Given the description of an element on the screen output the (x, y) to click on. 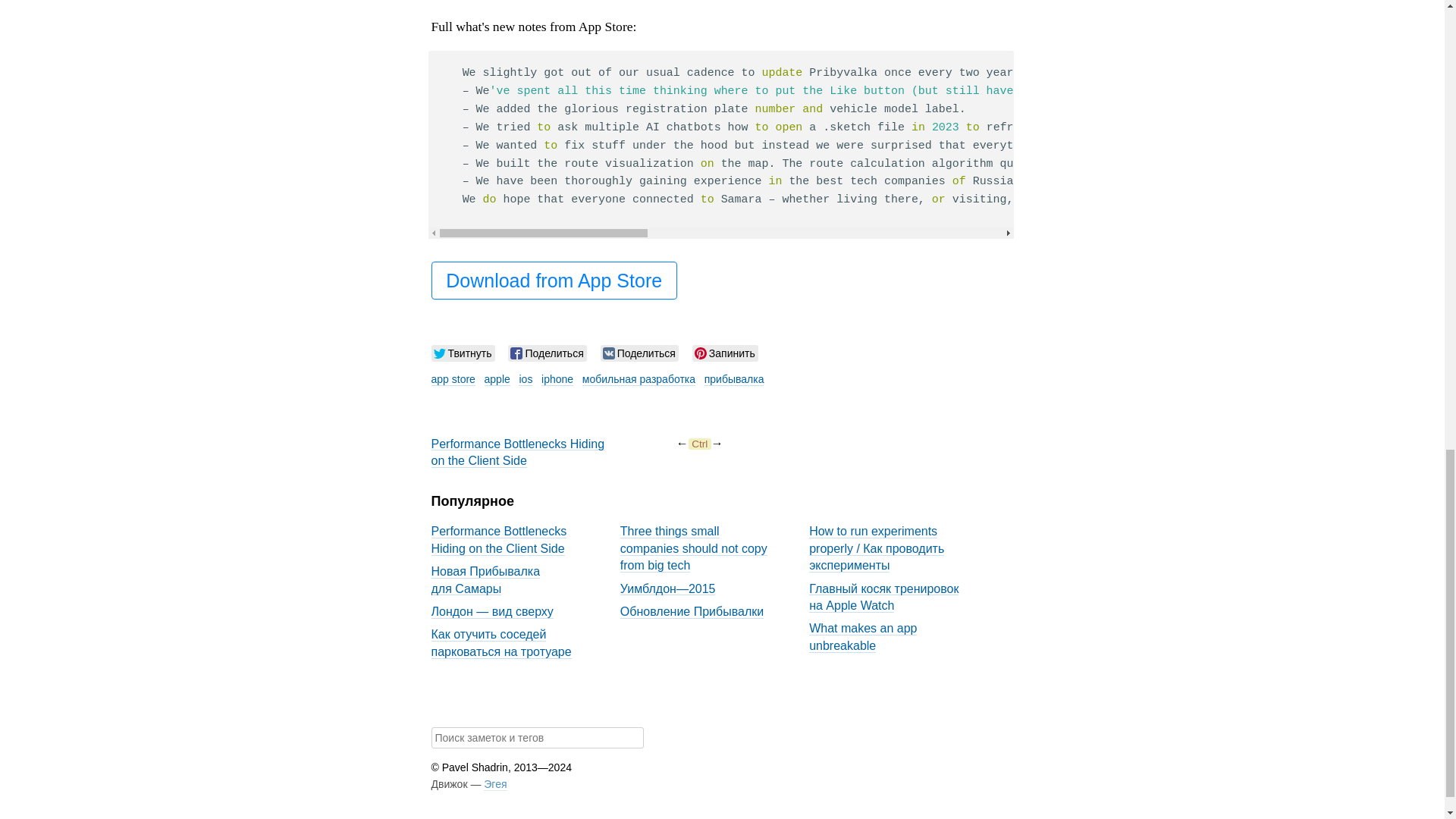
What makes an app unbreakable (863, 634)
Performance Bottlenecks Hiding on the Client Side (517, 450)
Three things small companies should not copy from big tech (693, 546)
apple (497, 379)
app store (452, 379)
Download from App Store (553, 280)
ios (525, 379)
iphone (557, 379)
Performance Bottlenecks Hiding on the Client Side (498, 537)
